Given the description of an element on the screen output the (x, y) to click on. 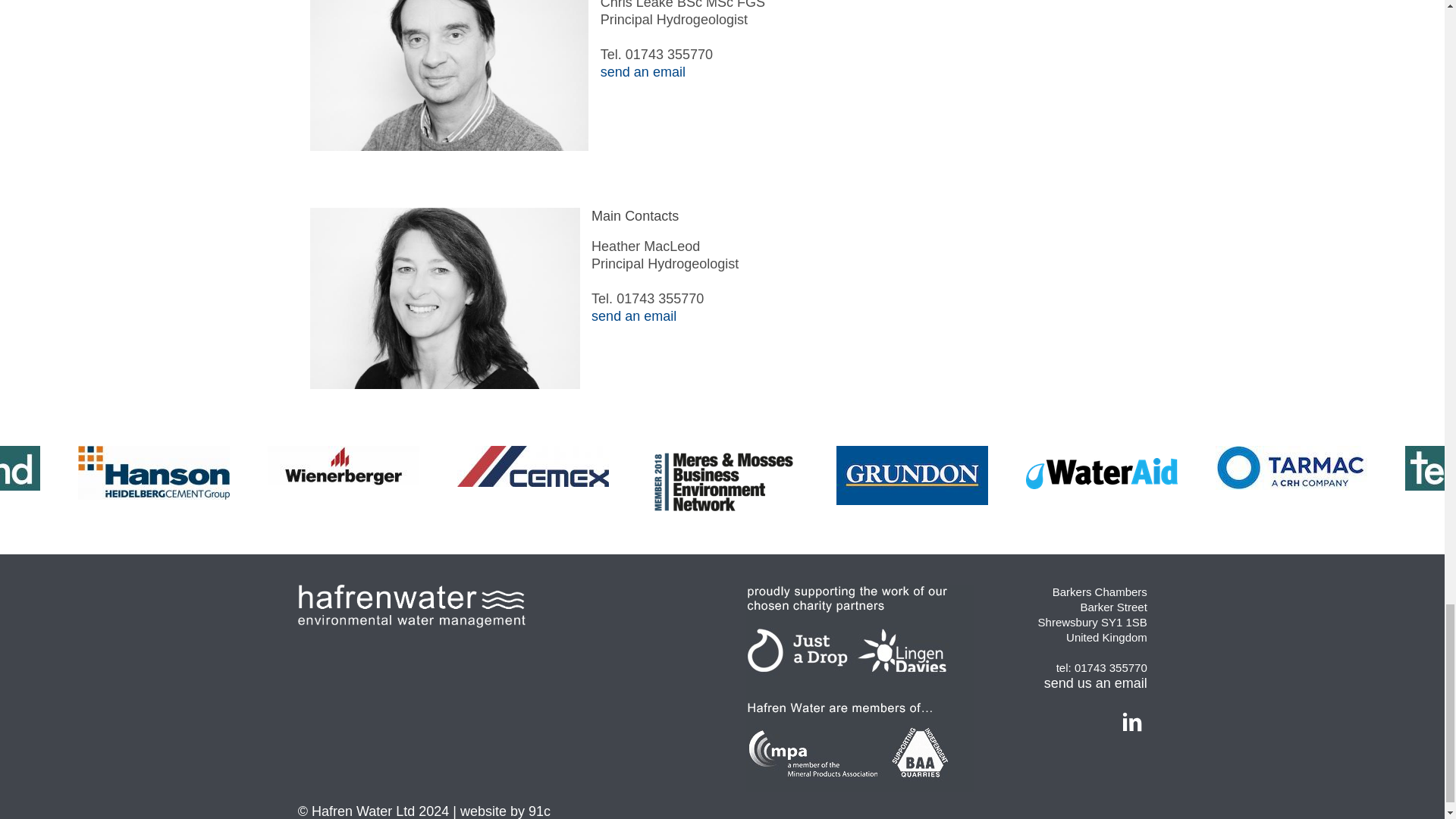
Cemex (532, 465)
website by 91c (505, 811)
send us an email (1095, 683)
01743 355770 (669, 54)
01743 355770 (659, 298)
01743 355770 (1110, 667)
Hanson (154, 472)
send an email (642, 71)
Tearfund (20, 467)
send an email (634, 315)
Wienerberger (343, 465)
